Given the description of an element on the screen output the (x, y) to click on. 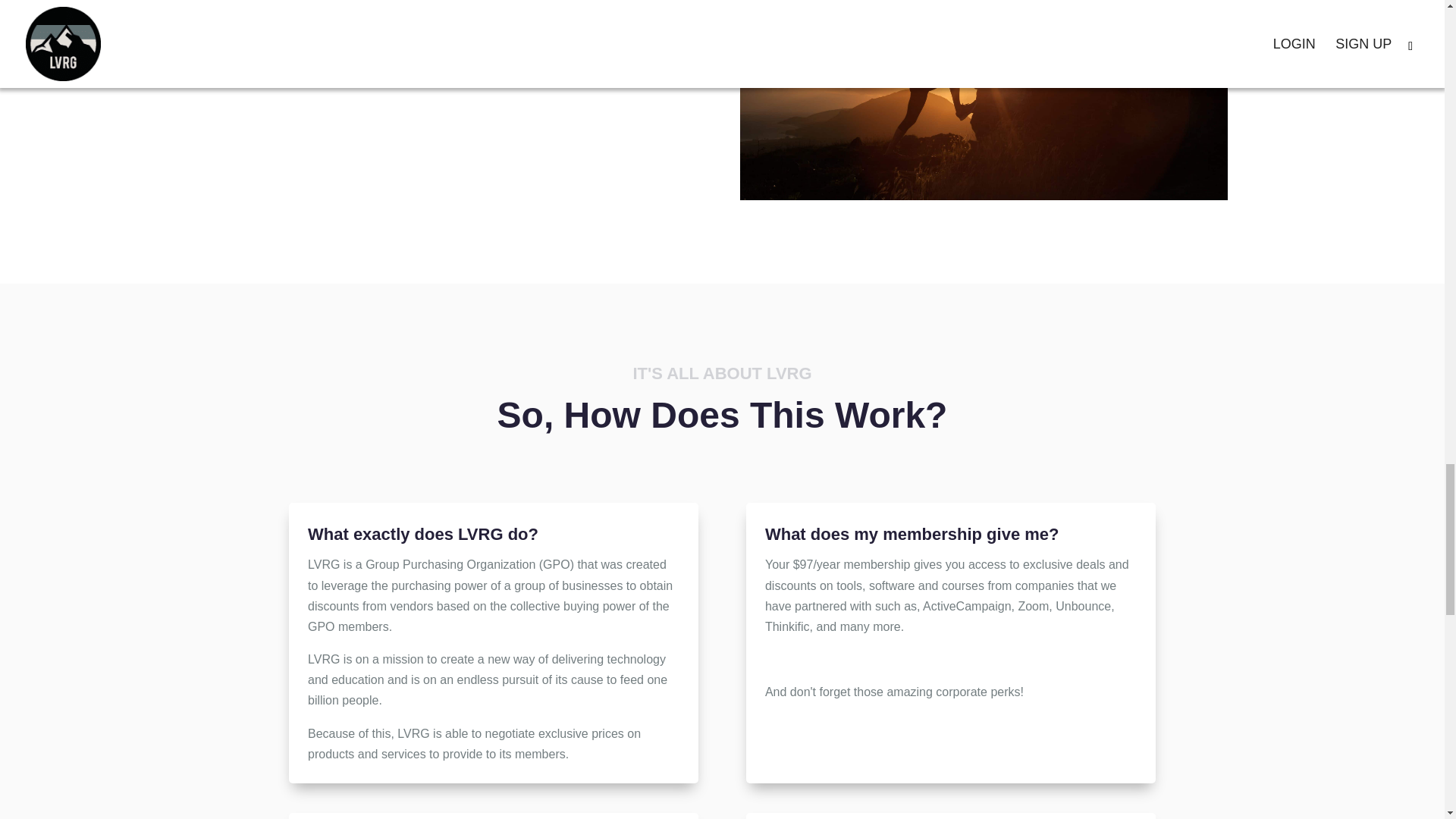
Male,And,Female,Hikers,Climbing,Up,Mountain,Cliff,And,One (983, 99)
